Given the description of an element on the screen output the (x, y) to click on. 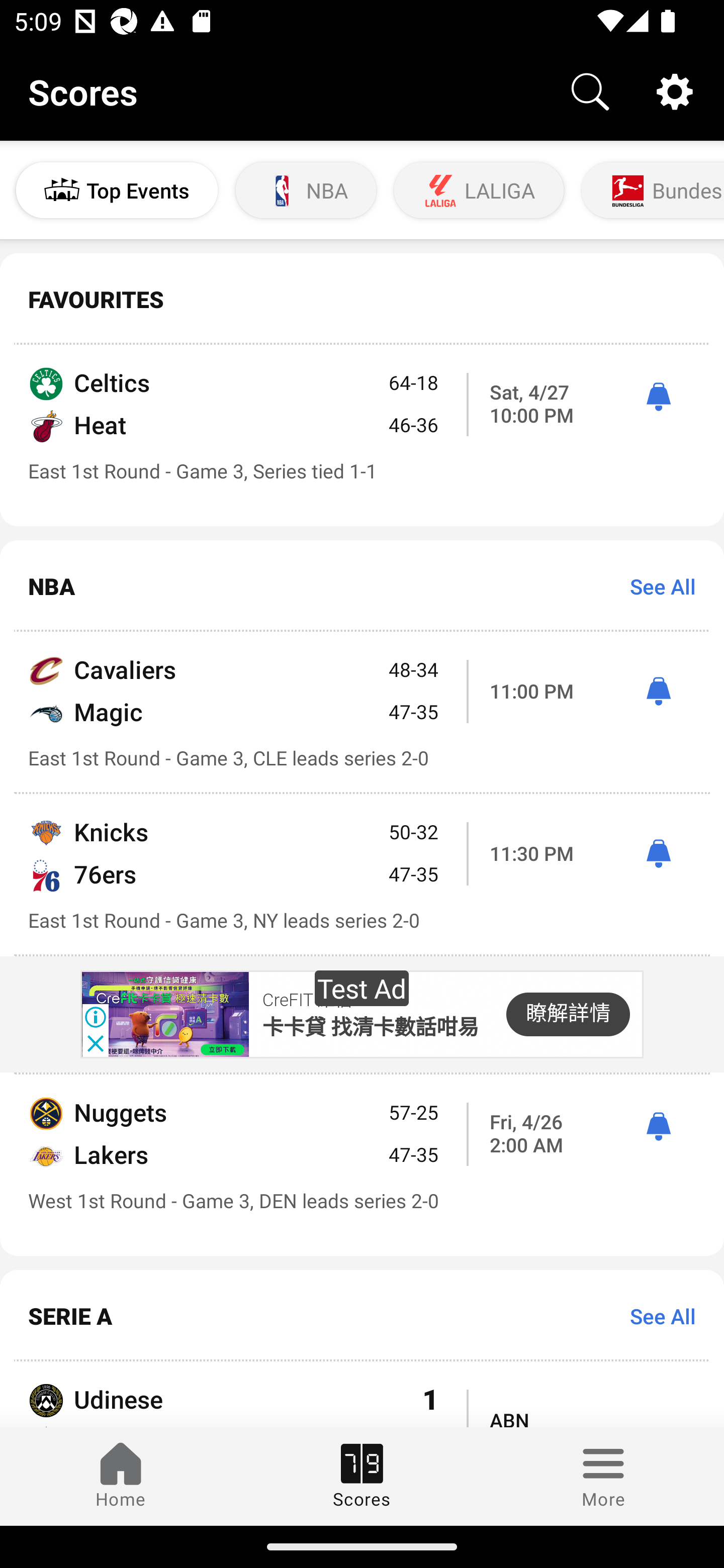
Search (590, 90)
Settings (674, 90)
 Top Events (116, 190)
NBA (305, 190)
LALIGA (478, 190)
Bundesliga (651, 190)
FAVOURITES (362, 299)
ì (658, 396)
NBA See All (362, 585)
See All (655, 586)
ì (658, 691)
ì (658, 854)
details%3Fid%3Dcom.vhk (164, 1014)
CreFIT 維信 (307, 1000)
瞭解詳情 (567, 1014)
卡卡貸 找清卡數話咁易 (370, 1027)
ì (658, 1127)
SERIE A See All (362, 1315)
See All (655, 1315)
Udinese 1 1 ABN (362, 1393)
Home (120, 1475)
More (603, 1475)
